Given the description of an element on the screen output the (x, y) to click on. 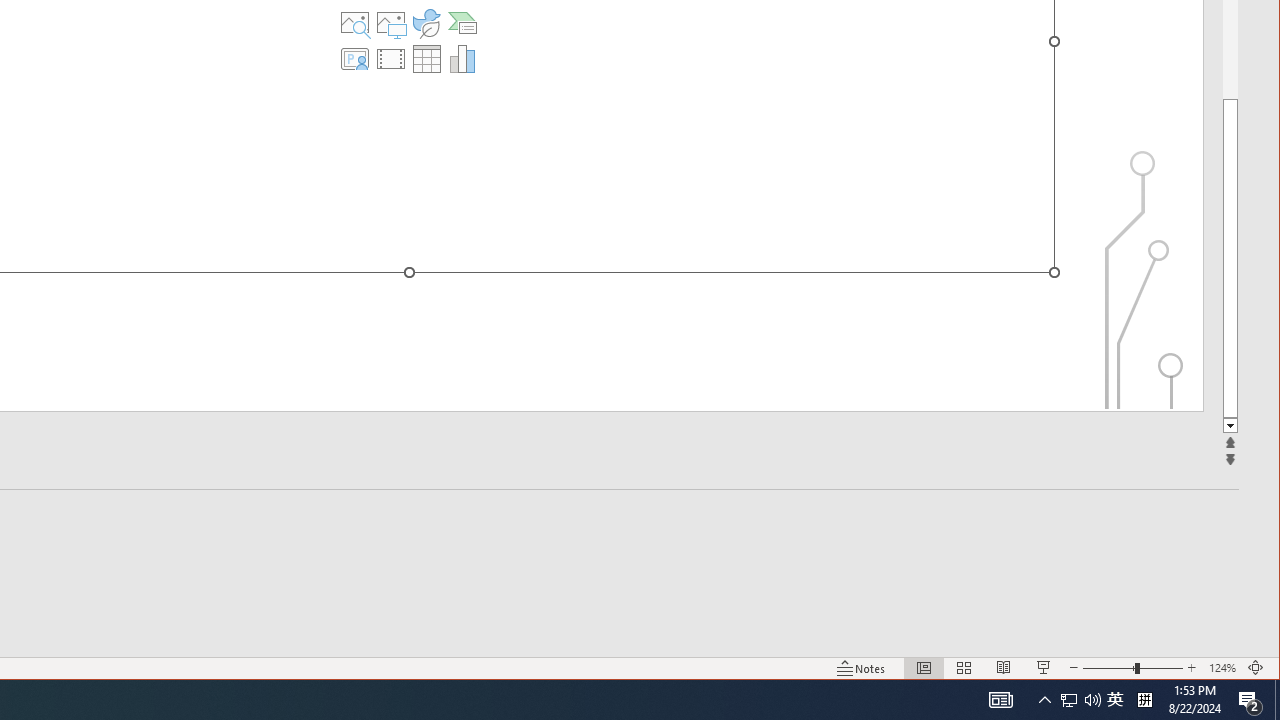
Zoom 124% (1222, 668)
